Given the description of an element on the screen output the (x, y) to click on. 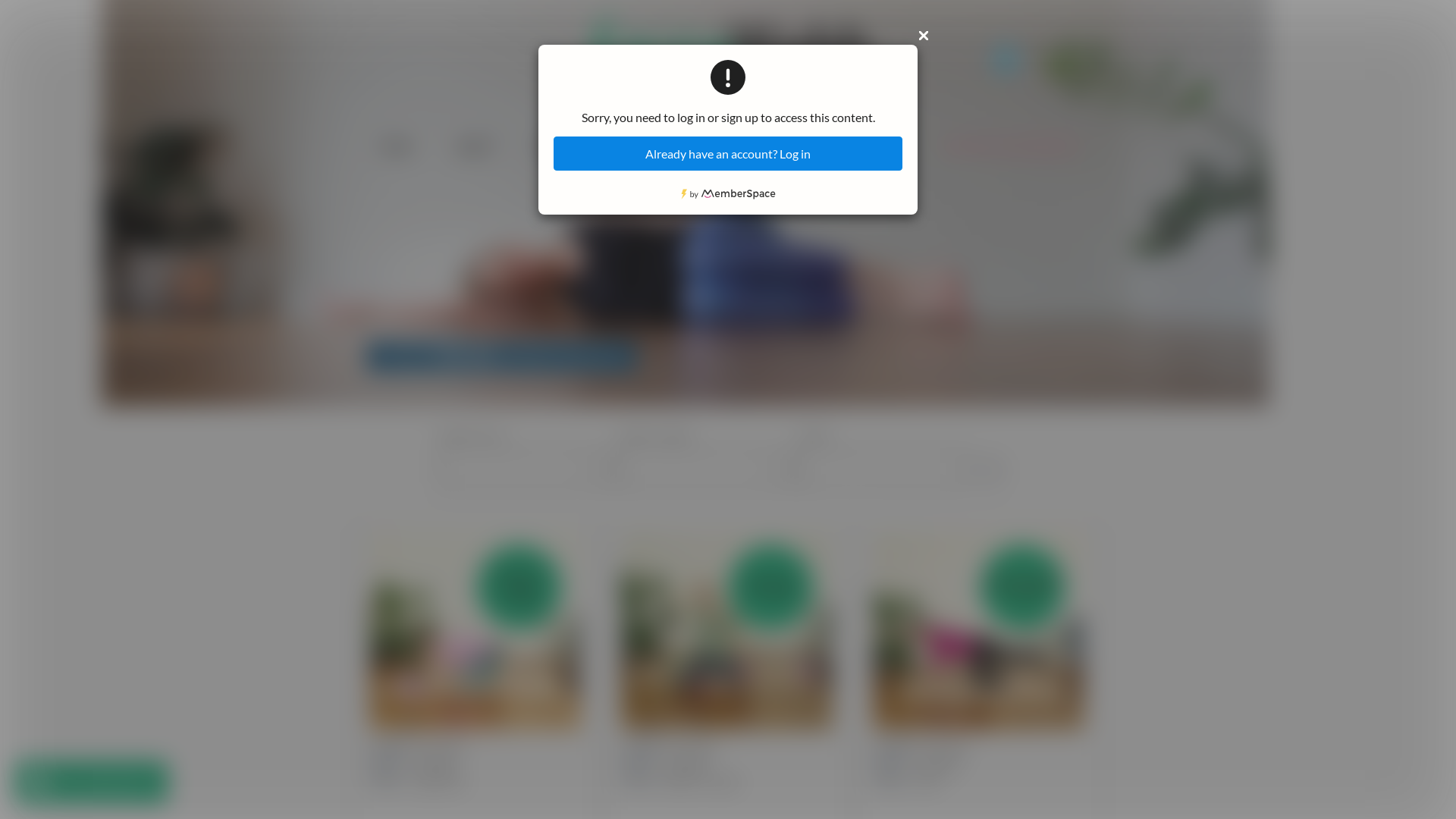
GIVING BACK Element type: text (696, 148)
SELFKIND HUB MEMBERS Element type: text (1009, 148)
WORK WITH ME Element type: text (577, 148)
PODCAST Element type: text (799, 148)
HOME Element type: text (395, 148)
ABOUT Element type: text (473, 148)
Simple soothe 1545.png Element type: hover (726, 630)
0 Element type: text (1005, 56)
A good ol' hip 'n shoulder 1546.png Element type: hover (475, 630)
A bunch of balancing 1544.jpg Element type: hover (978, 630)
BLOG Element type: text (882, 148)
